Given the description of an element on the screen output the (x, y) to click on. 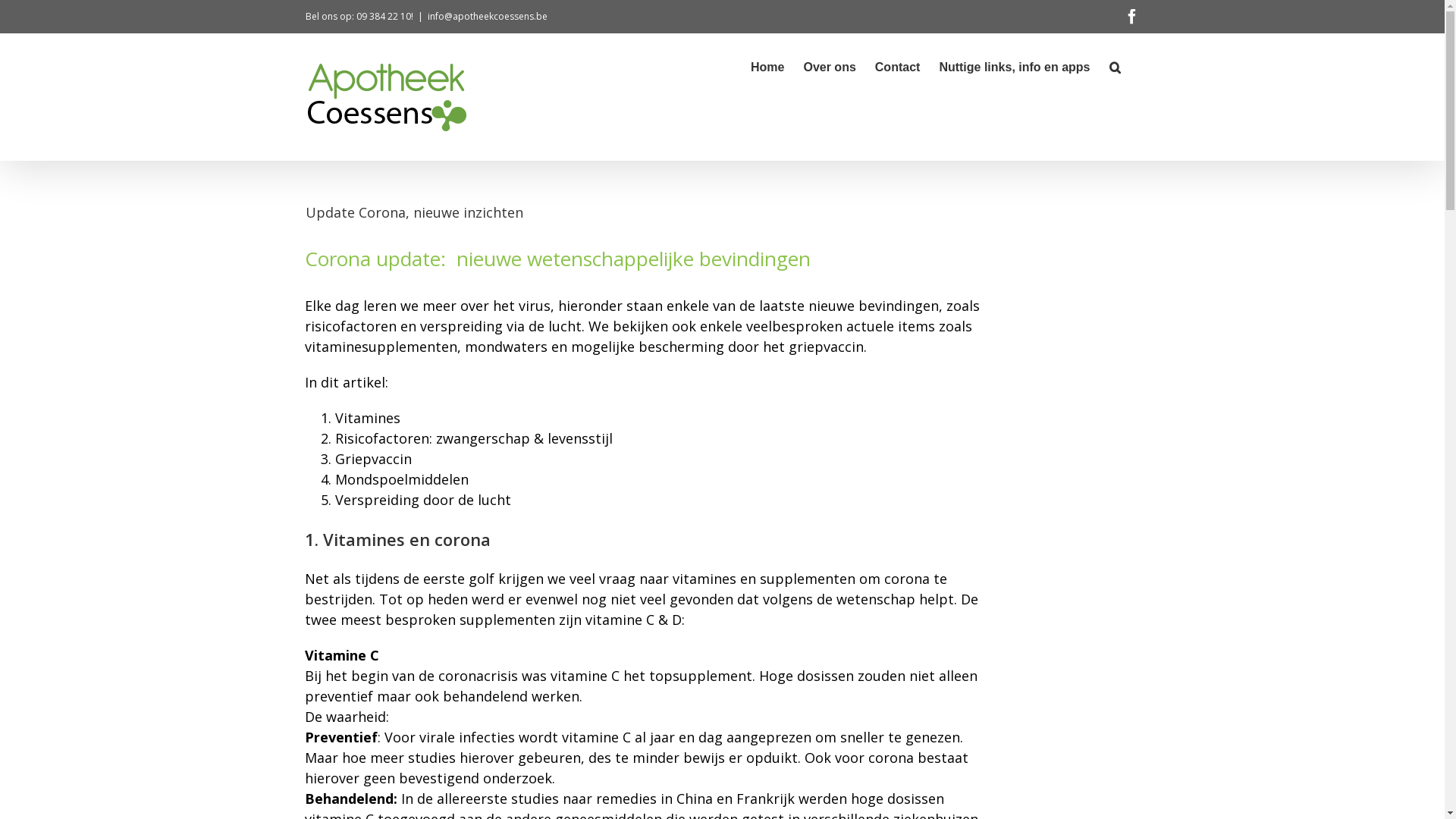
Contact Element type: text (897, 65)
Facebook Element type: text (1131, 16)
Zoeken Element type: hover (1114, 65)
Over ons Element type: text (829, 65)
Nuttige links, info en apps Element type: text (1013, 65)
Home Element type: text (767, 65)
info@apotheekcoessens.be Element type: text (487, 15)
